Given the description of an element on the screen output the (x, y) to click on. 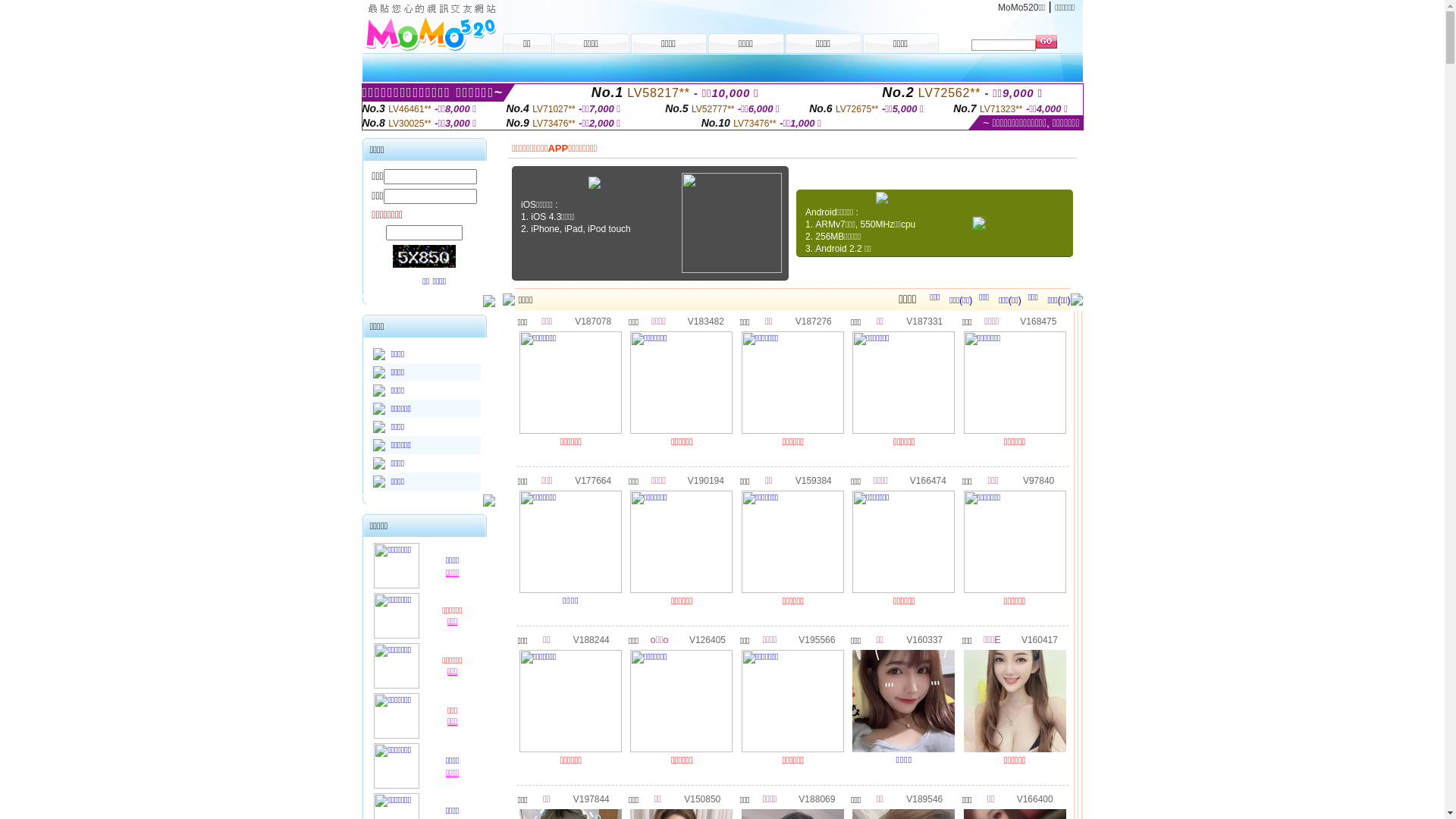
V188244 Element type: text (591, 638)
V166400 Element type: text (1034, 798)
V187276 Element type: text (813, 320)
V183482 Element type: text (705, 320)
V150850 Element type: text (702, 798)
V195566 Element type: text (816, 638)
V159384 Element type: text (813, 479)
V187078 Element type: text (592, 320)
V160417 Element type: text (1039, 638)
V187331 Element type: text (924, 320)
V189546 Element type: text (924, 798)
V197844 Element type: text (591, 798)
V188069 Element type: text (816, 798)
V97840 Element type: text (1038, 479)
V168475 Element type: text (1037, 320)
V126405 Element type: text (707, 638)
V160337 Element type: text (924, 638)
V177664 Element type: text (592, 479)
V190194 Element type: text (705, 479)
V166474 Element type: text (928, 479)
